Given the description of an element on the screen output the (x, y) to click on. 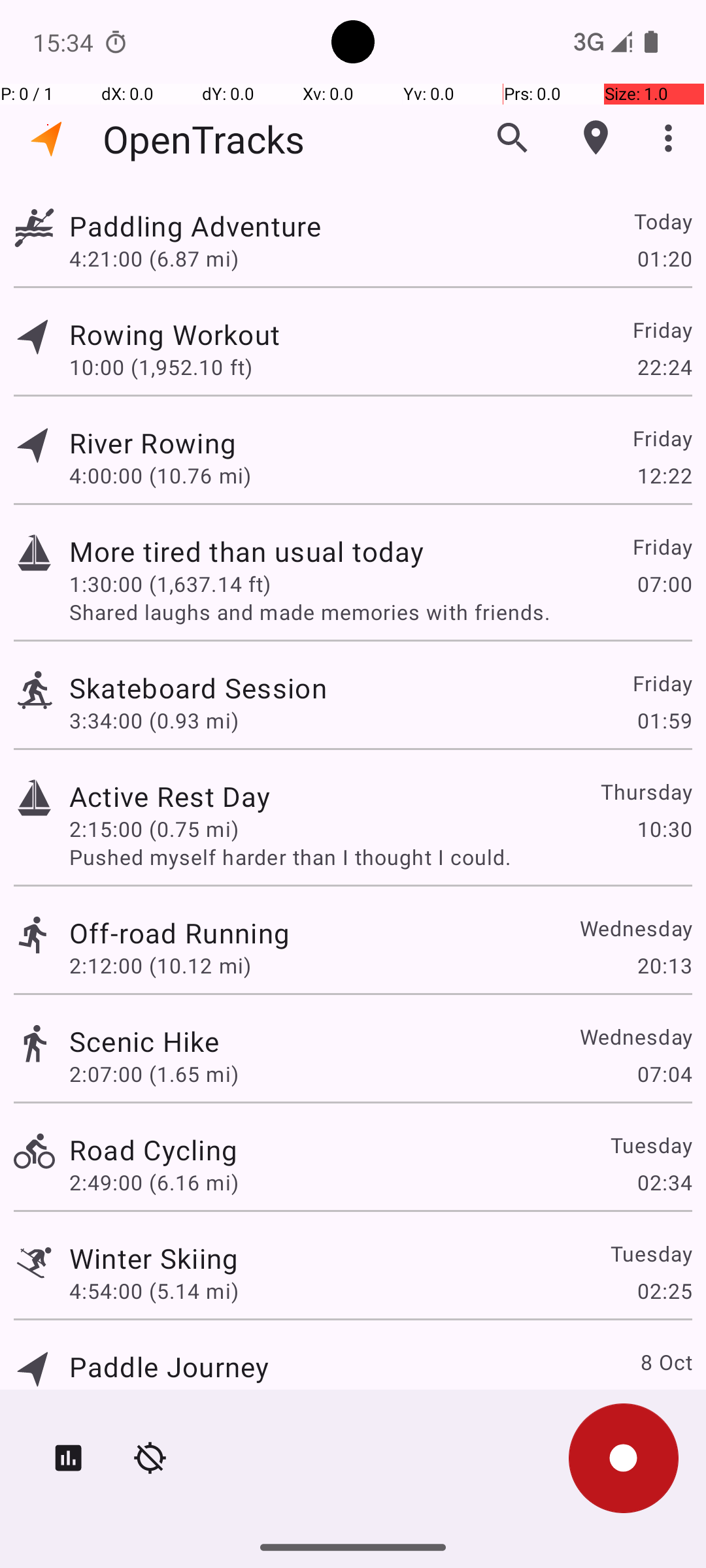
Paddling Adventure Element type: android.widget.TextView (194, 225)
4:21:00 (6.87 mi) Element type: android.widget.TextView (153, 258)
01:20 Element type: android.widget.TextView (664, 258)
Rowing Workout Element type: android.widget.TextView (174, 333)
10:00 (1,952.10 ft) Element type: android.widget.TextView (160, 366)
22:24 Element type: android.widget.TextView (664, 366)
River Rowing Element type: android.widget.TextView (152, 442)
4:00:00 (10.76 mi) Element type: android.widget.TextView (159, 475)
12:22 Element type: android.widget.TextView (664, 475)
More tired than usual today Element type: android.widget.TextView (246, 550)
1:30:00 (1,637.14 ft) Element type: android.widget.TextView (169, 583)
Shared laughs and made memories with friends. Element type: android.widget.TextView (380, 611)
Skateboard Session Element type: android.widget.TextView (197, 687)
3:34:00 (0.93 mi) Element type: android.widget.TextView (153, 720)
01:59 Element type: android.widget.TextView (664, 720)
Active Rest Day Element type: android.widget.TextView (169, 795)
2:15:00 (0.75 mi) Element type: android.widget.TextView (153, 828)
10:30 Element type: android.widget.TextView (664, 828)
Pushed myself harder than I thought I could. Element type: android.widget.TextView (380, 856)
Off-road Running Element type: android.widget.TextView (179, 932)
2:12:00 (10.12 mi) Element type: android.widget.TextView (159, 965)
20:13 Element type: android.widget.TextView (664, 965)
Scenic Hike Element type: android.widget.TextView (144, 1040)
2:07:00 (1.65 mi) Element type: android.widget.TextView (153, 1073)
07:04 Element type: android.widget.TextView (664, 1073)
Road Cycling Element type: android.widget.TextView (152, 1149)
2:49:00 (6.16 mi) Element type: android.widget.TextView (153, 1182)
02:34 Element type: android.widget.TextView (664, 1182)
Winter Skiing Element type: android.widget.TextView (153, 1257)
4:54:00 (5.14 mi) Element type: android.widget.TextView (153, 1290)
02:25 Element type: android.widget.TextView (664, 1290)
Paddle Journey Element type: android.widget.TextView (168, 1366)
4:34:00 (4.41 mi) Element type: android.widget.TextView (153, 1399)
23:56 Element type: android.widget.TextView (664, 1399)
